Given the description of an element on the screen output the (x, y) to click on. 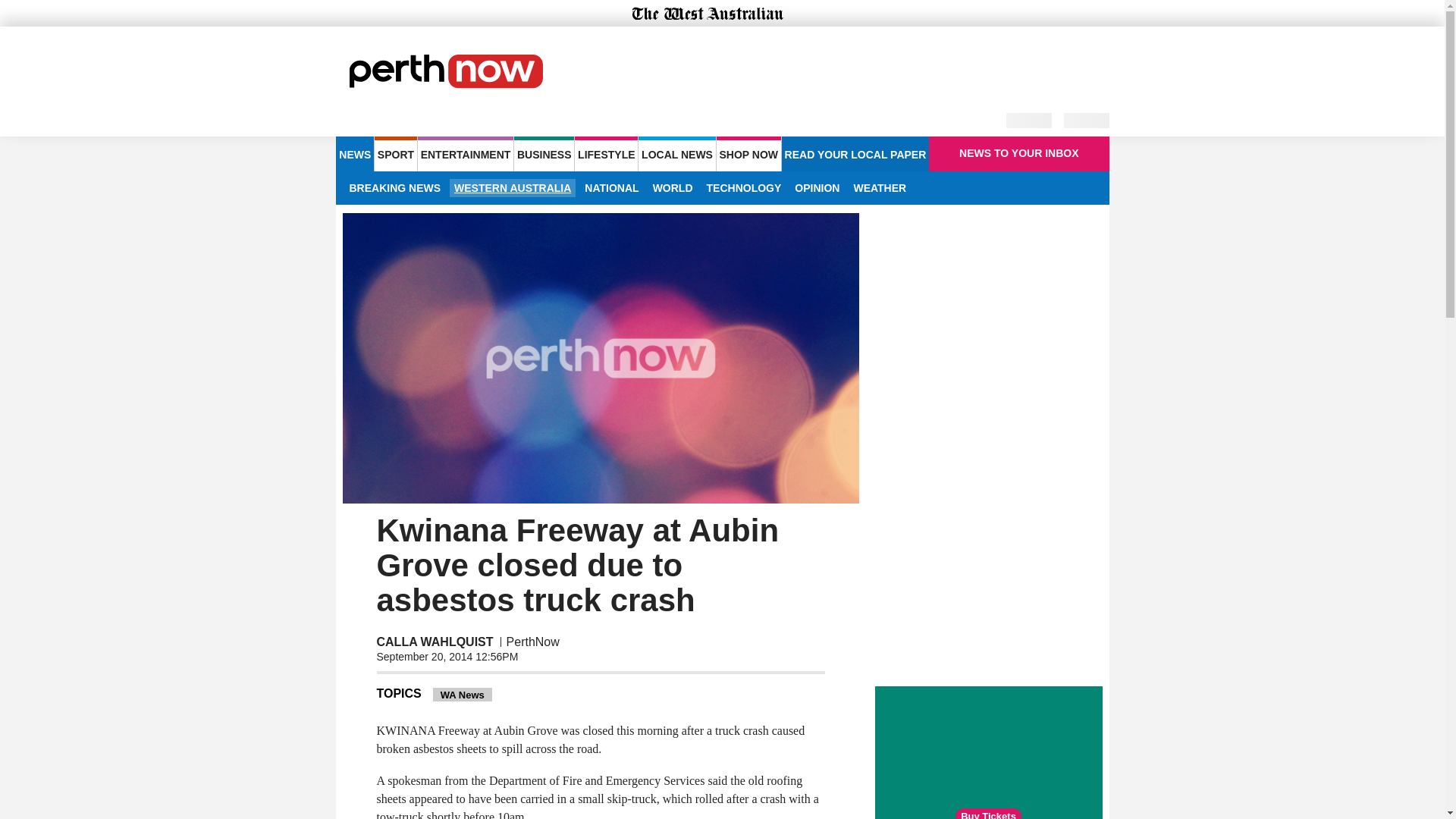
BUSINESS (543, 153)
SPORT (395, 153)
NEWS (354, 153)
ENTERTAINMENT (465, 153)
